Given the description of an element on the screen output the (x, y) to click on. 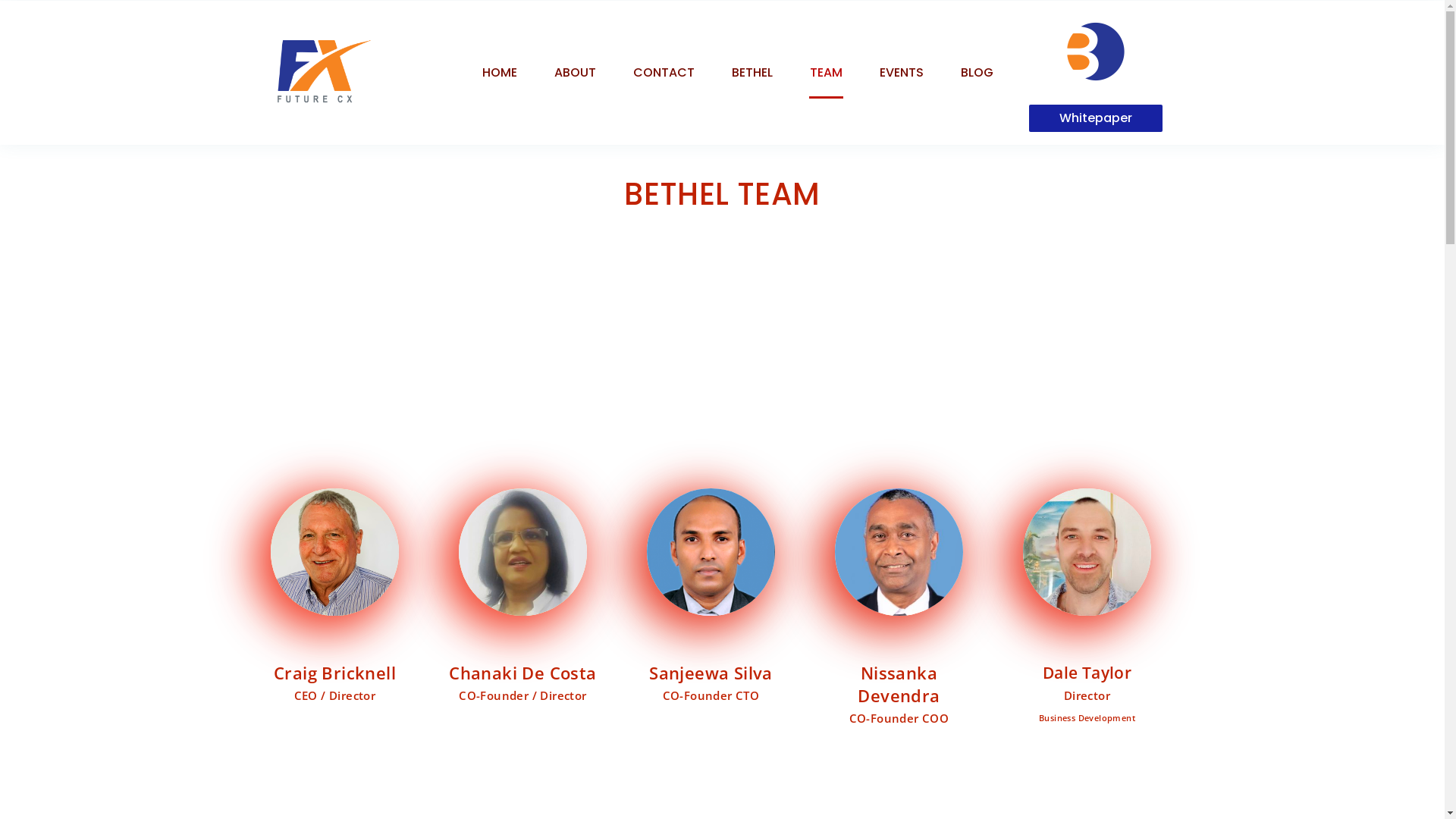
HOME Element type: text (499, 72)
Craig Element type: hover (334, 551)
CONTACT Element type: text (663, 72)
nish Element type: hover (898, 551)
Dale Element type: hover (1086, 551)
BETHEL-LOGO-FINAL Element type: hover (1095, 51)
Sanjeewa1 Element type: hover (710, 551)
BETHEL Element type: text (752, 72)
BLOG Element type: text (977, 72)
ABOUT Element type: text (574, 72)
chanaki-de-costa1 Element type: hover (522, 551)
Whitepaper Element type: text (1095, 117)
TEAM Element type: text (826, 72)
EVENTS Element type: text (901, 72)
